Given the description of an element on the screen output the (x, y) to click on. 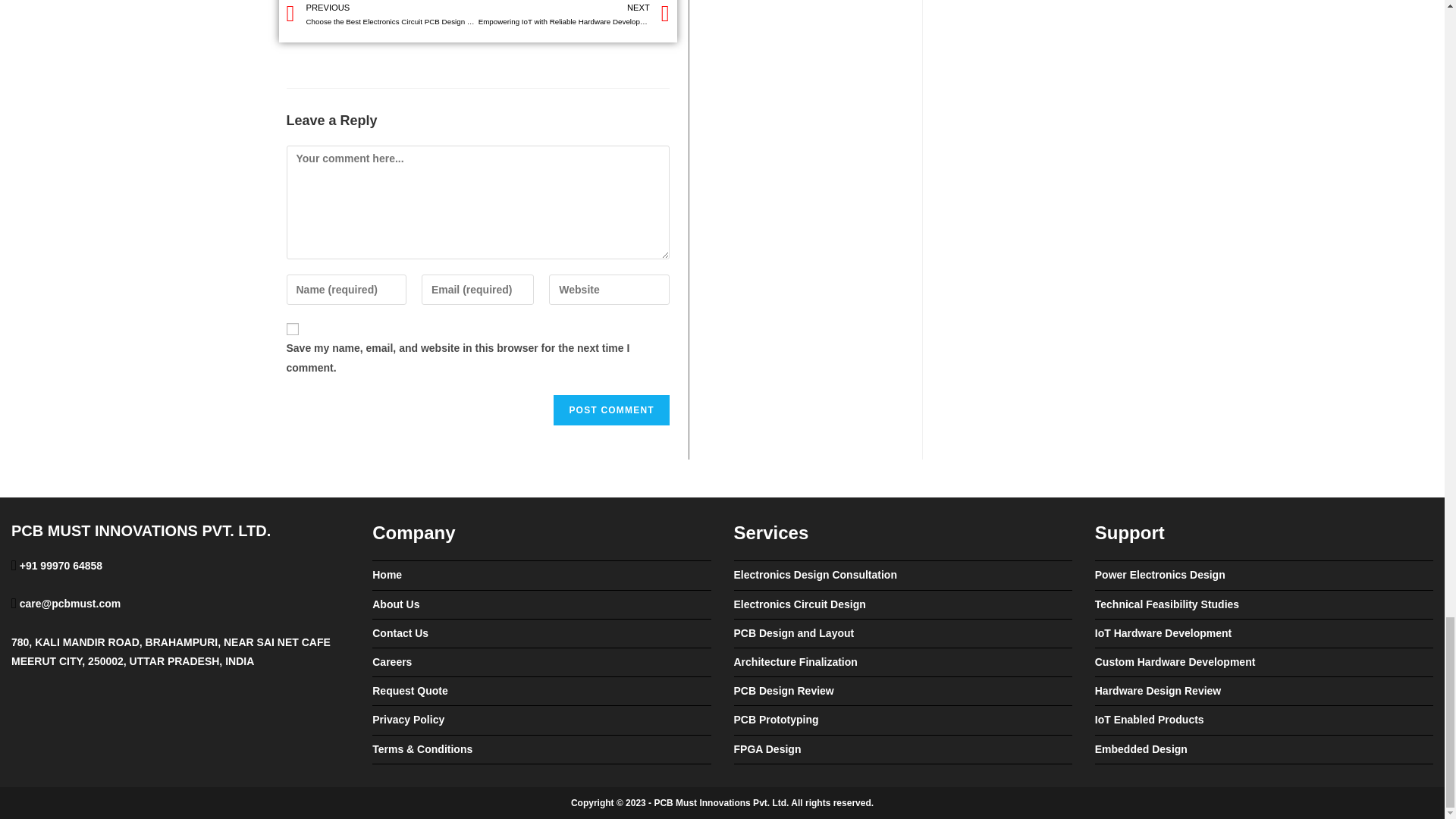
yes (292, 328)
Post Comment (610, 409)
